Given the description of an element on the screen output the (x, y) to click on. 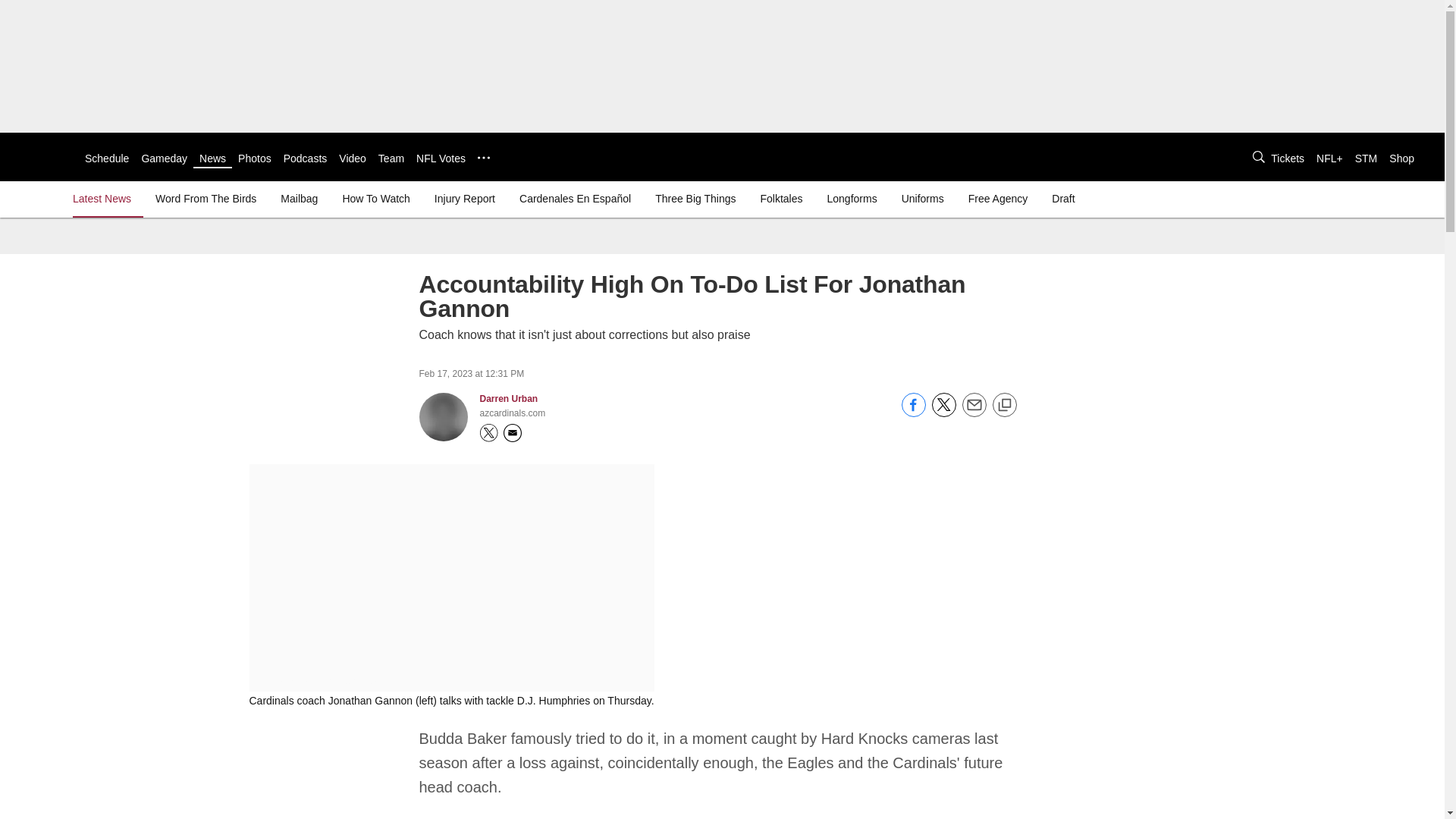
Mailbag (299, 198)
Link to club's homepage (42, 156)
Photos (254, 158)
Tickets (1287, 158)
Three Big Things (695, 198)
NFL Votes (440, 158)
Podcasts (305, 158)
NFL Votes (440, 158)
Word From The Birds (205, 198)
News (212, 158)
